Given the description of an element on the screen output the (x, y) to click on. 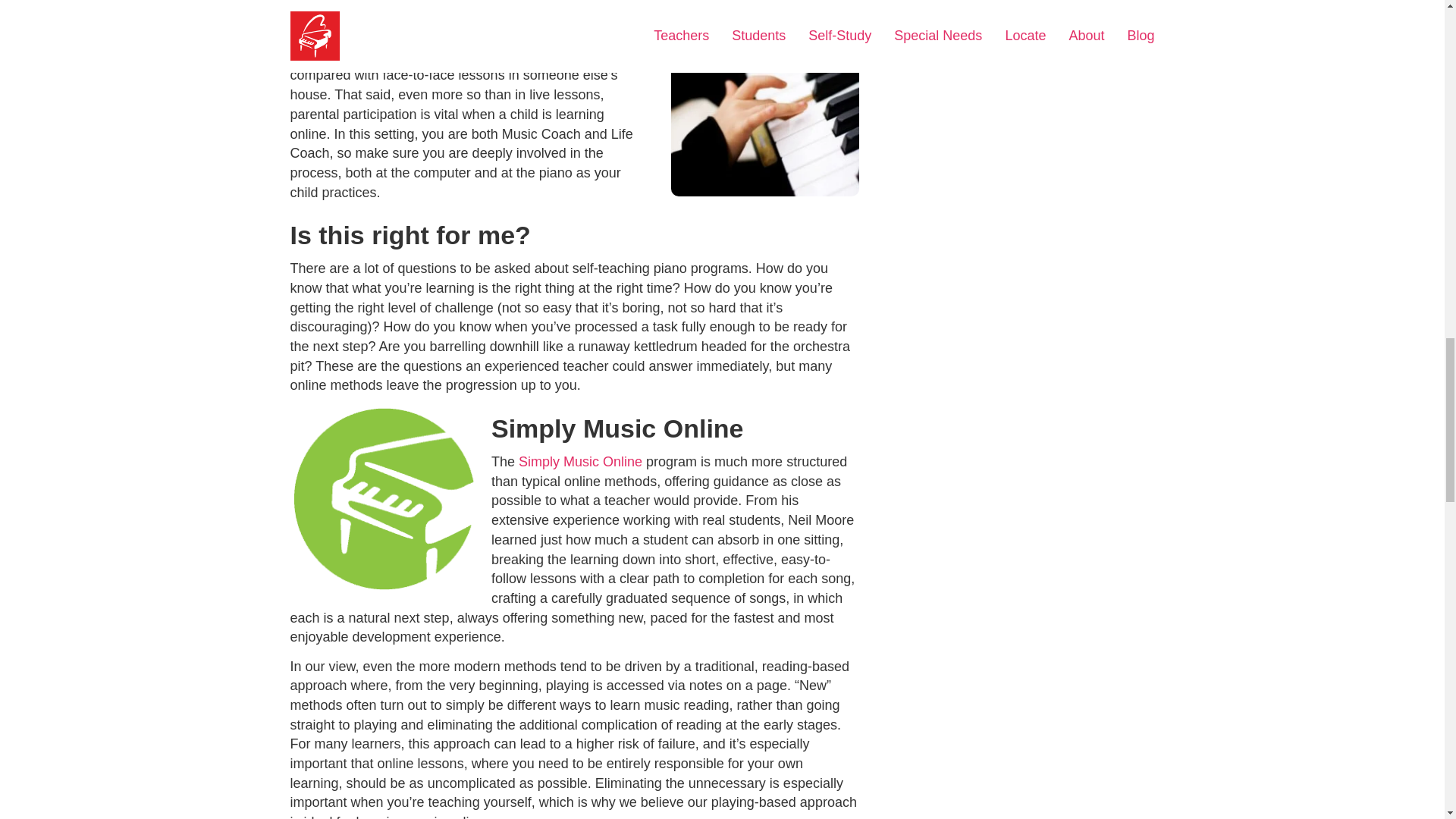
Simply Music Online (580, 461)
